Given the description of an element on the screen output the (x, y) to click on. 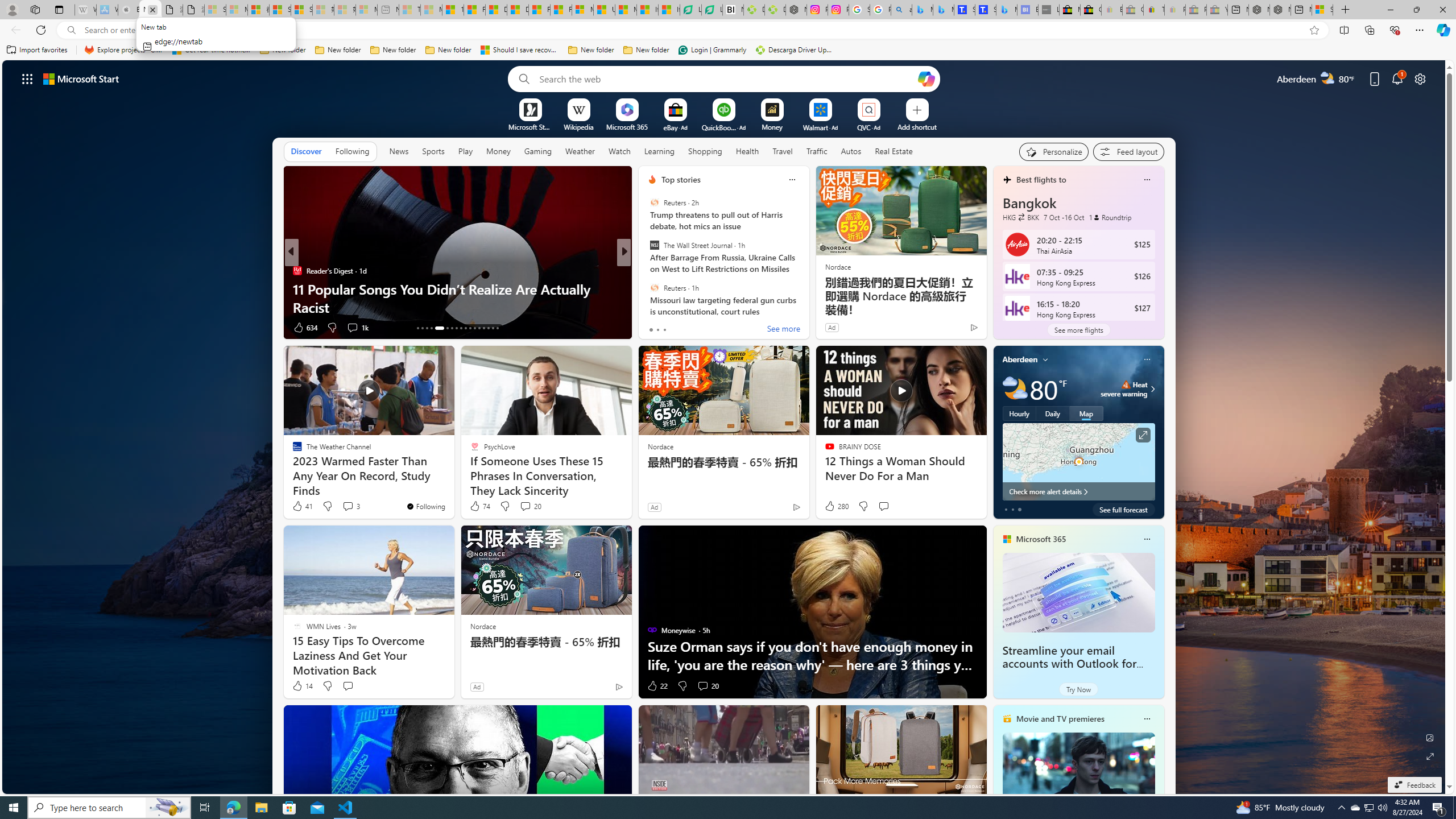
AutomationID: tab-45 (497, 328)
The Wall Street Journal (654, 245)
Drinking tea every day is proven to delay biological aging (517, 9)
Import favorites (36, 49)
Check more alert details (1077, 491)
Heat - Severe Heat severe warning (1123, 389)
View comments 2 Comment (689, 327)
Kobocents (647, 270)
AutomationID: tab-16 (431, 328)
